Given the description of an element on the screen output the (x, y) to click on. 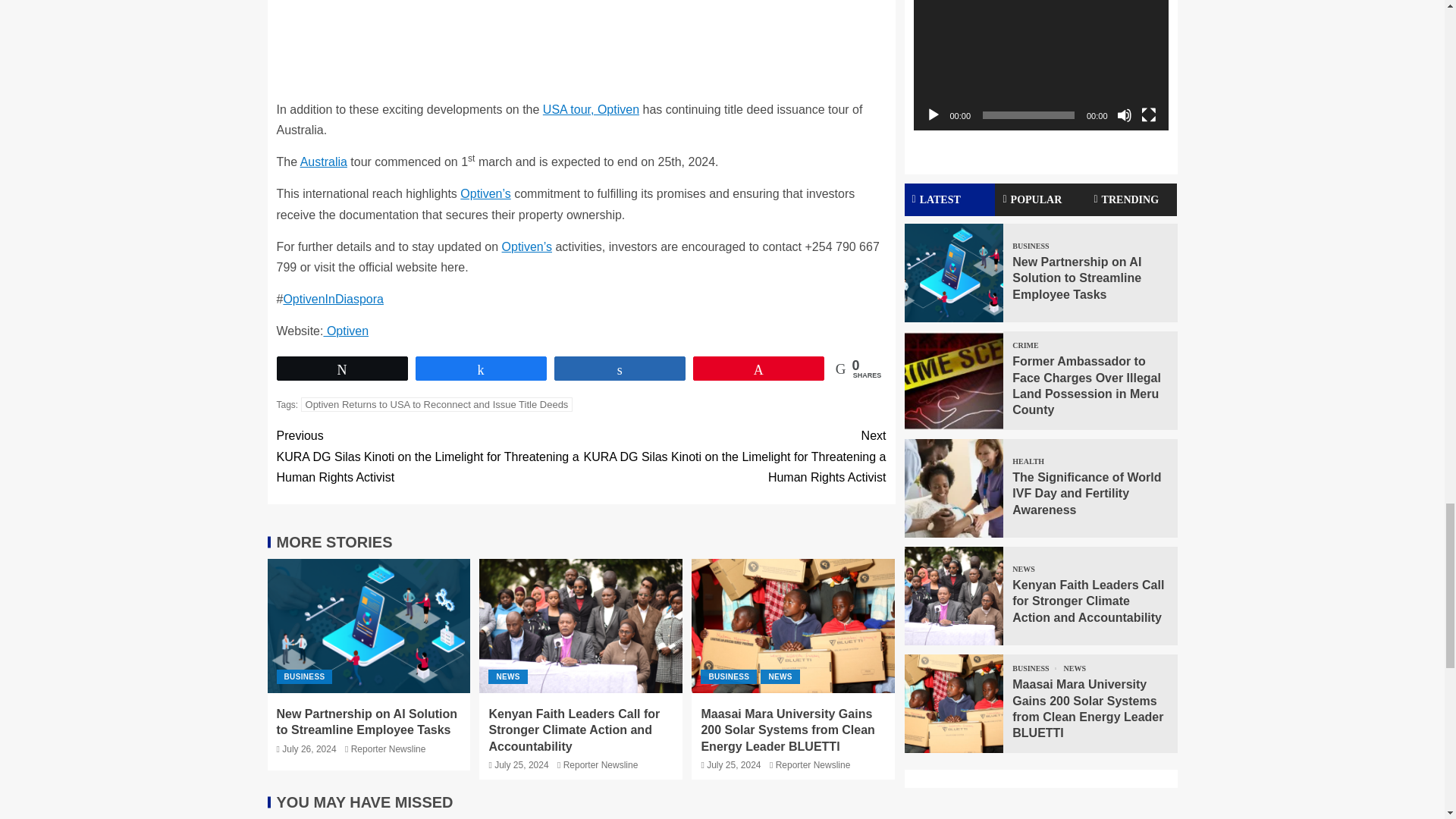
Australia (323, 161)
USA tour, Optiven (591, 109)
Optiven Returns to USA to Reconnect and Issue Title Deeds (437, 404)
Optiven (345, 330)
OptivenInDiaspora (333, 298)
